Given the description of an element on the screen output the (x, y) to click on. 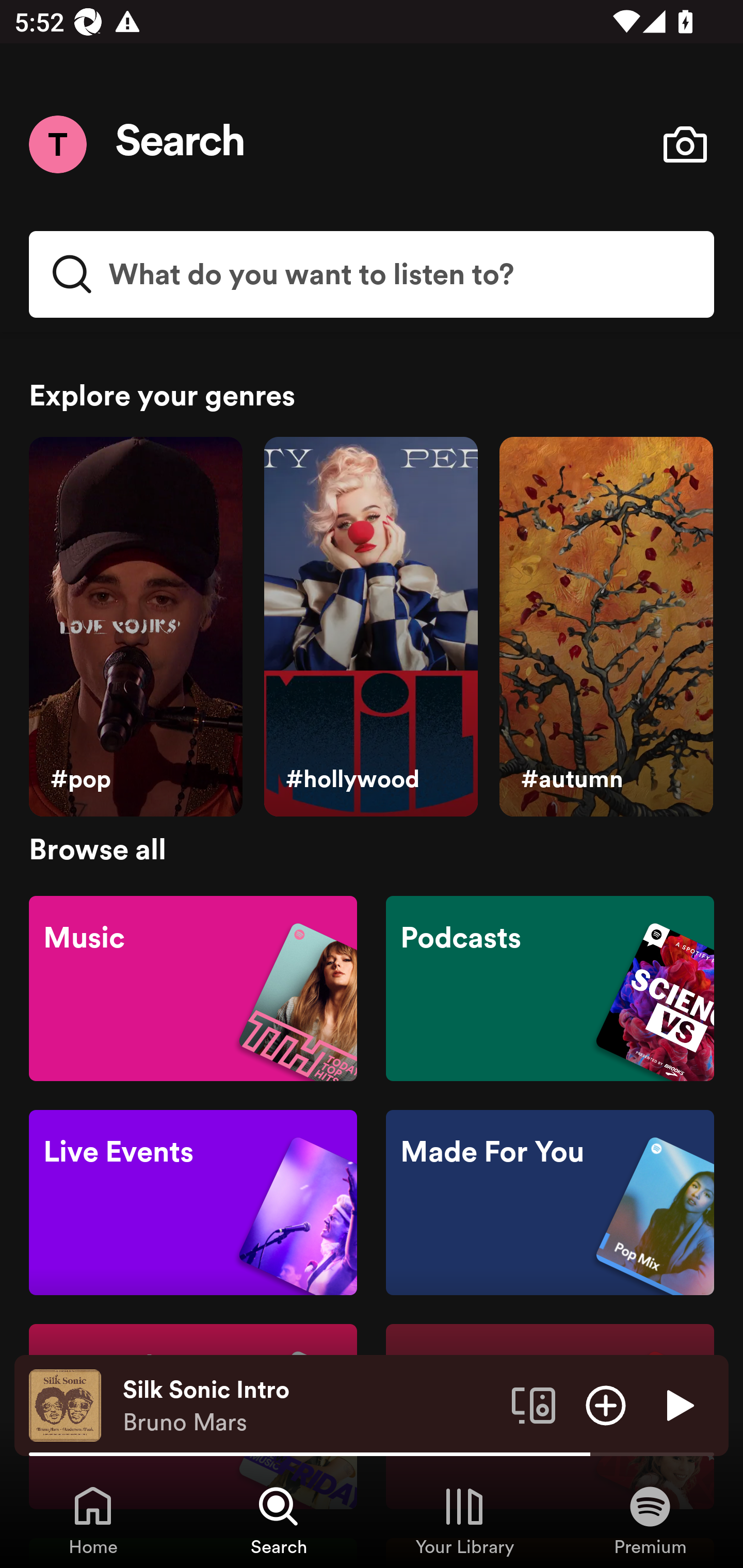
Menu (57, 144)
Open camera (685, 145)
Search (180, 144)
#pop (135, 626)
#hollywood (370, 626)
#autumn (606, 626)
Music (192, 987)
Podcasts (549, 987)
Live Events (192, 1202)
Made For You (549, 1202)
Silk Sonic Intro Bruno Mars (309, 1405)
The cover art of the currently playing track (64, 1404)
Connect to a device. Opens the devices menu (533, 1404)
Add item (605, 1404)
Play (677, 1404)
Home, Tab 1 of 4 Home Home (92, 1519)
Search, Tab 2 of 4 Search Search (278, 1519)
Your Library, Tab 3 of 4 Your Library Your Library (464, 1519)
Premium, Tab 4 of 4 Premium Premium (650, 1519)
